Given the description of an element on the screen output the (x, y) to click on. 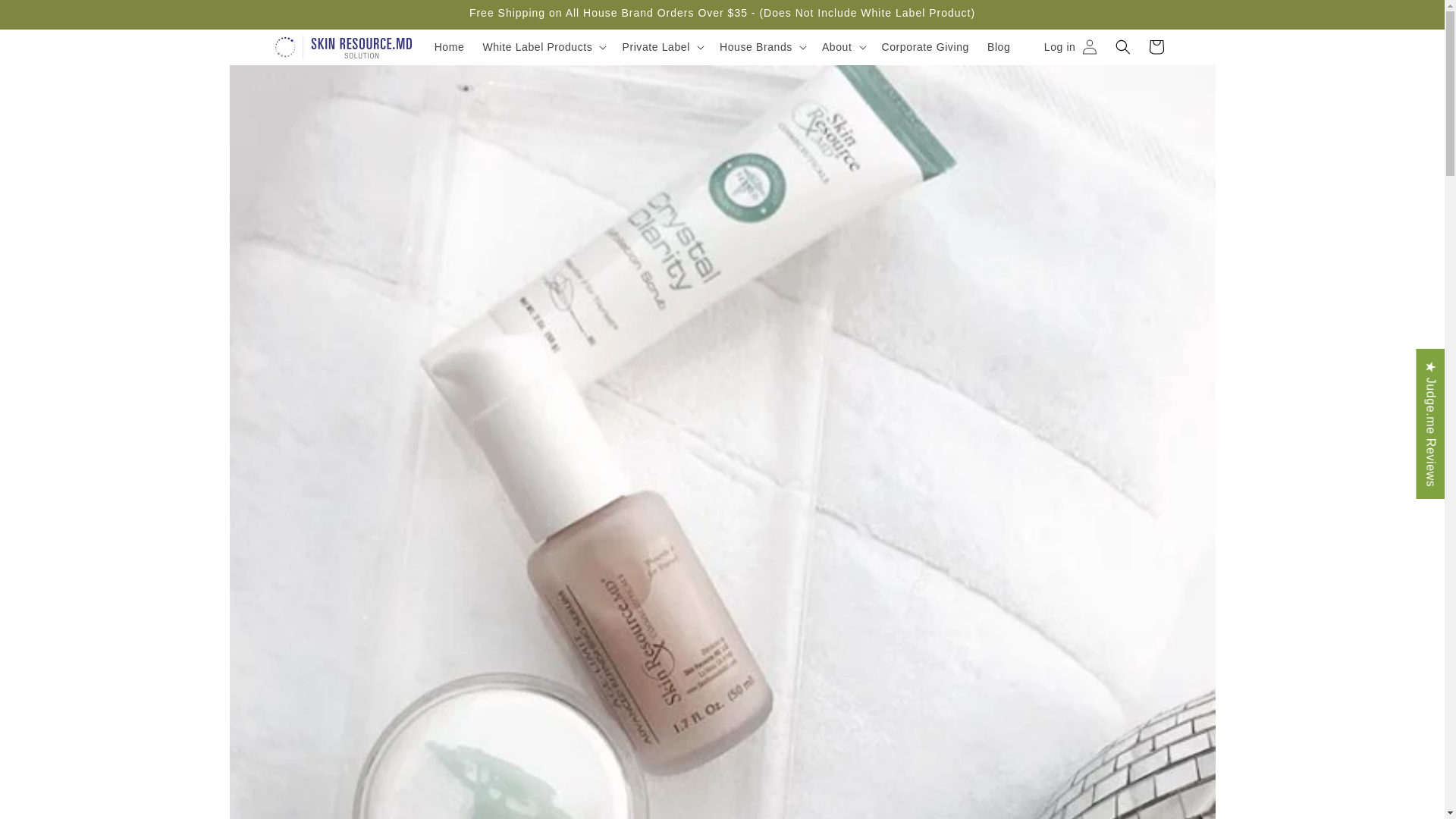
SKIP TO CONTENT (45, 17)
Home (449, 47)
